Given the description of an element on the screen output the (x, y) to click on. 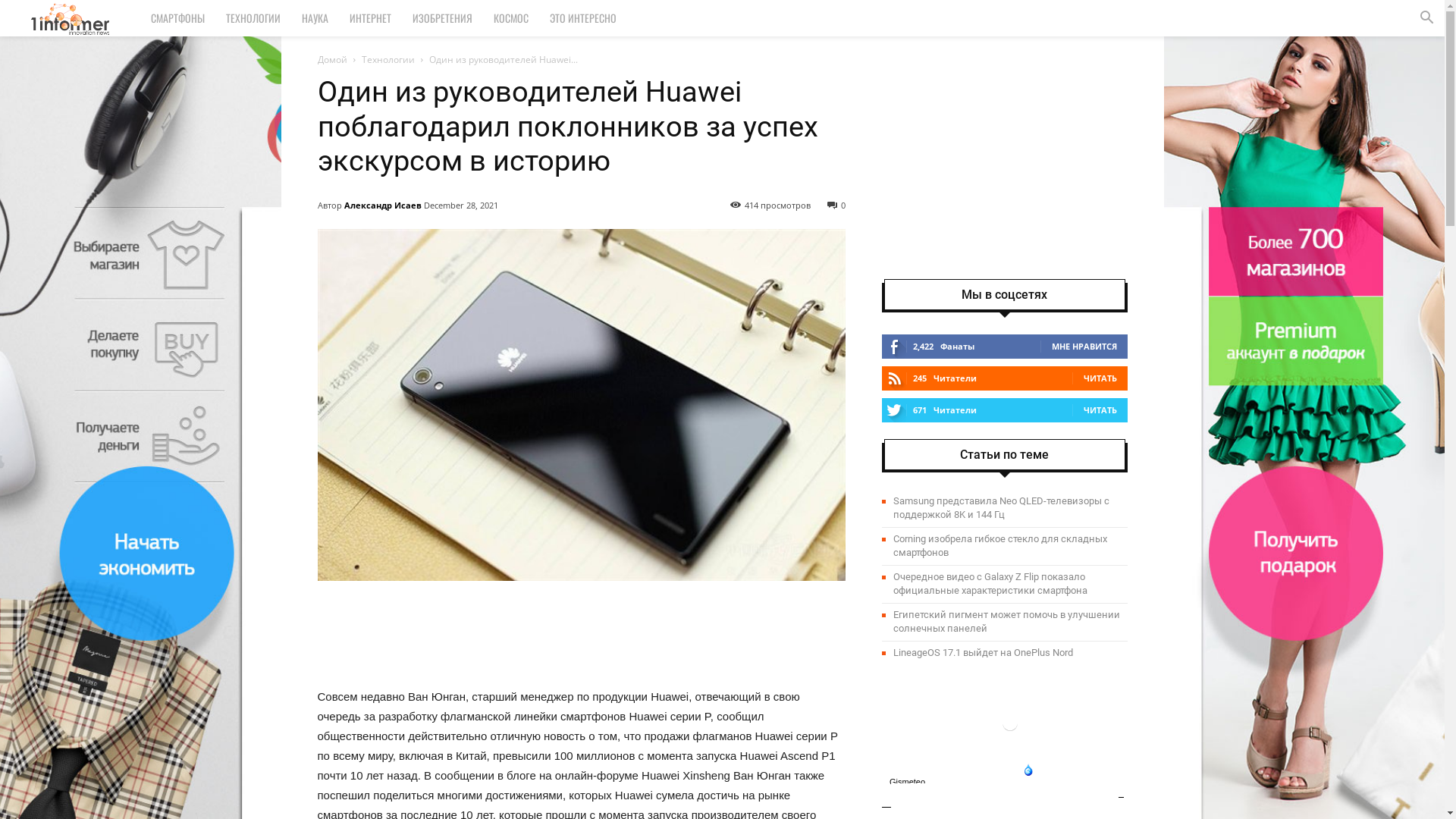
Advertisement Element type: hover (580, 623)
                            Element type: text (1005, 728)
Huawei-P6 Element type: hover (580, 404)
Advertisement Element type: hover (1003, 169)
0 Element type: text (835, 204)
